Given the description of an element on the screen output the (x, y) to click on. 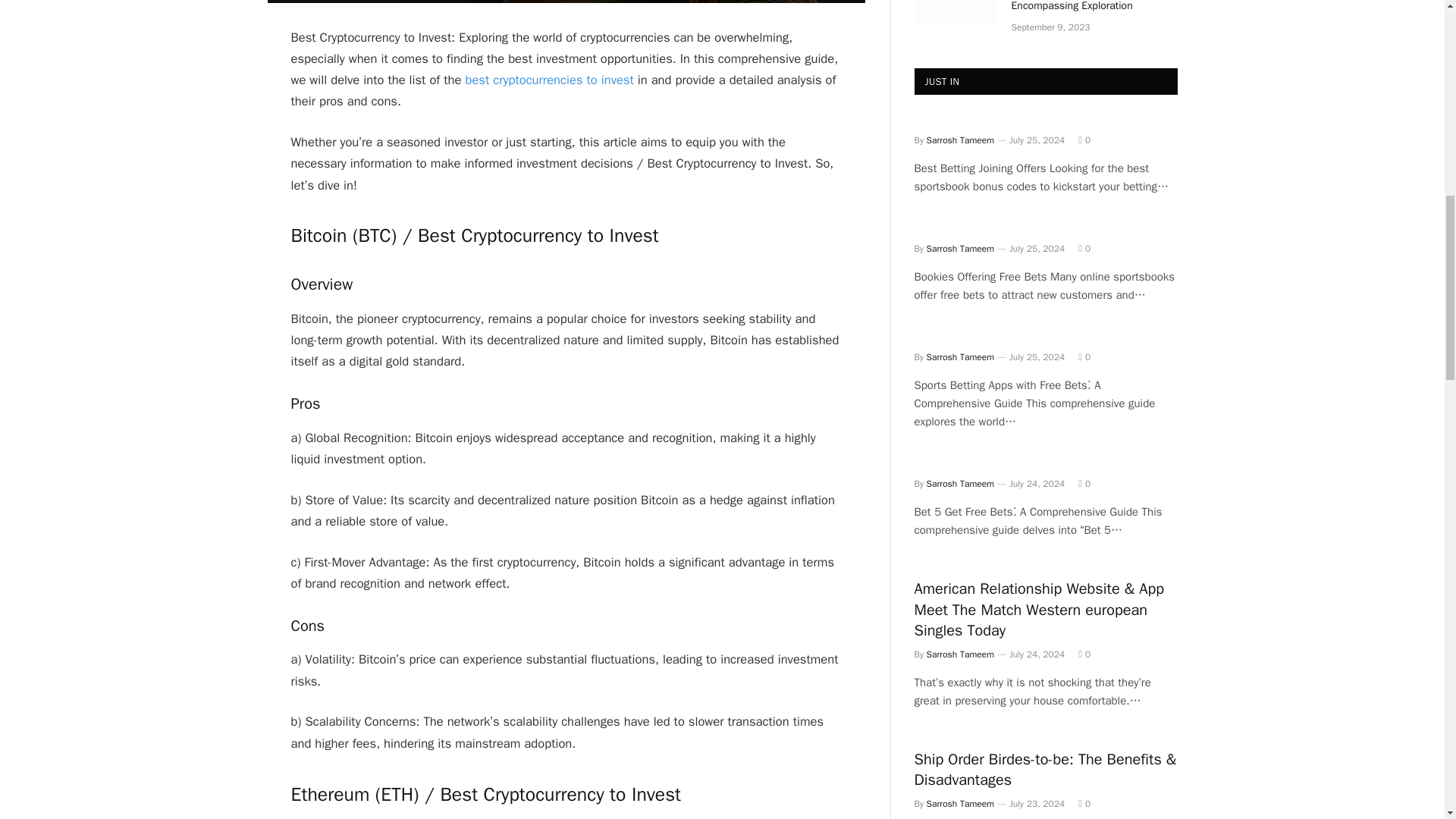
best cryptocurrencies to invest (548, 79)
Posts by Sarrosh Tameem (960, 140)
